Given the description of an element on the screen output the (x, y) to click on. 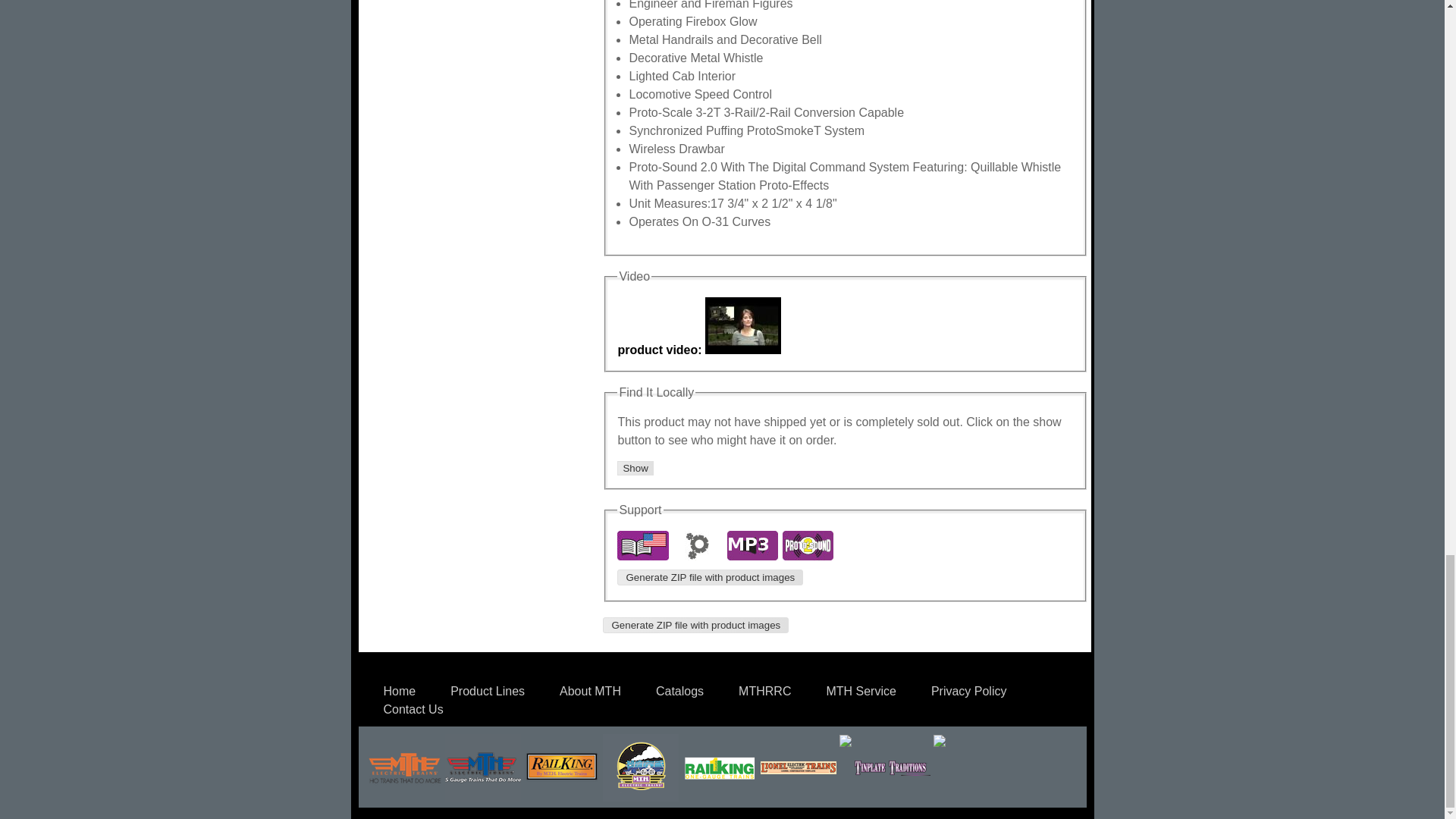
Show (634, 468)
Generate ZIP file with product images (695, 625)
Generate ZIP file with product images (710, 577)
